Given the description of an element on the screen output the (x, y) to click on. 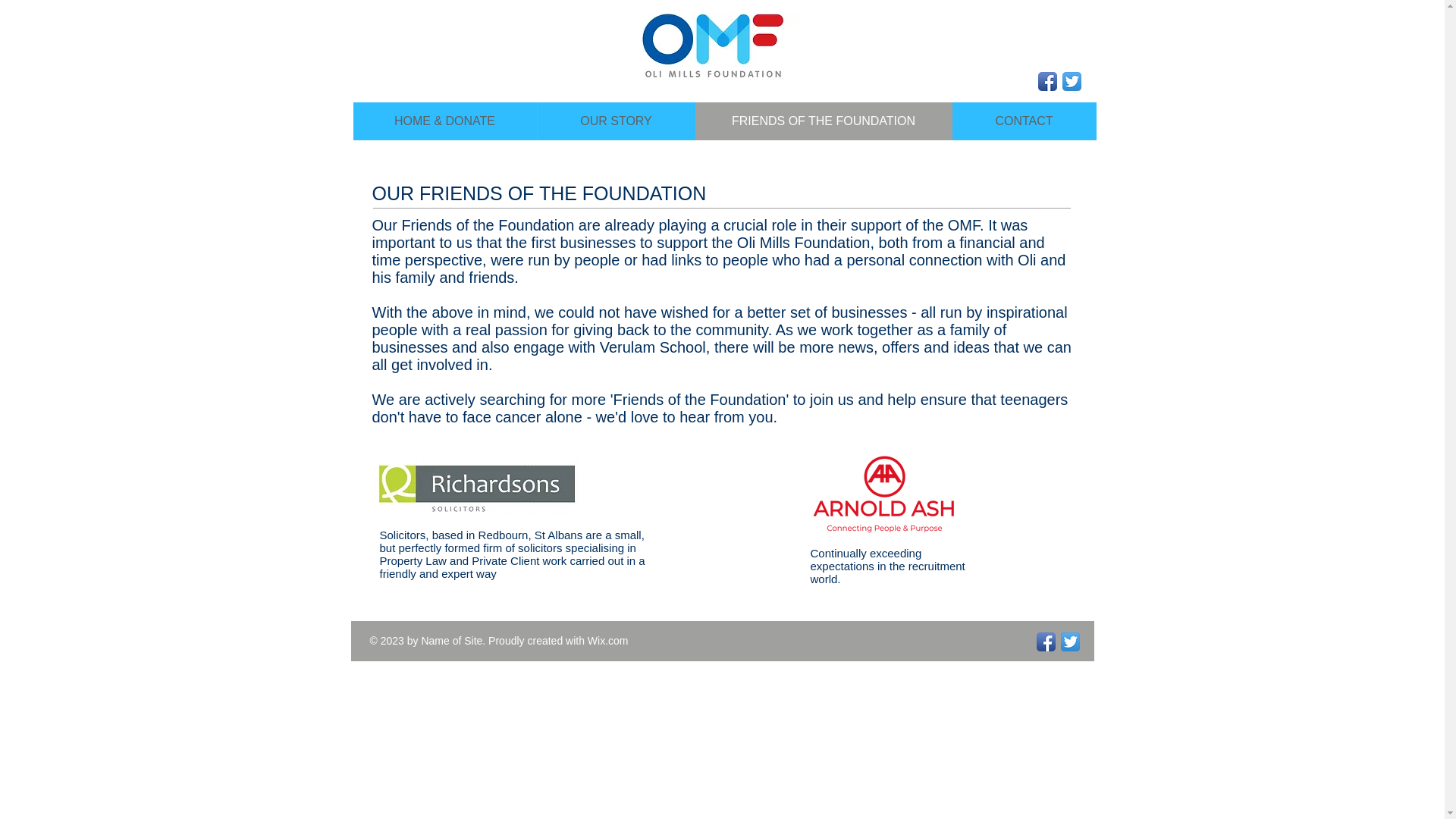
unnamed.jpg (713, 47)
Wix.com (608, 640)
CONTACT (1023, 121)
FRIENDS OF THE FOUNDATION (822, 121)
OUR STORY (616, 121)
